Given the description of an element on the screen output the (x, y) to click on. 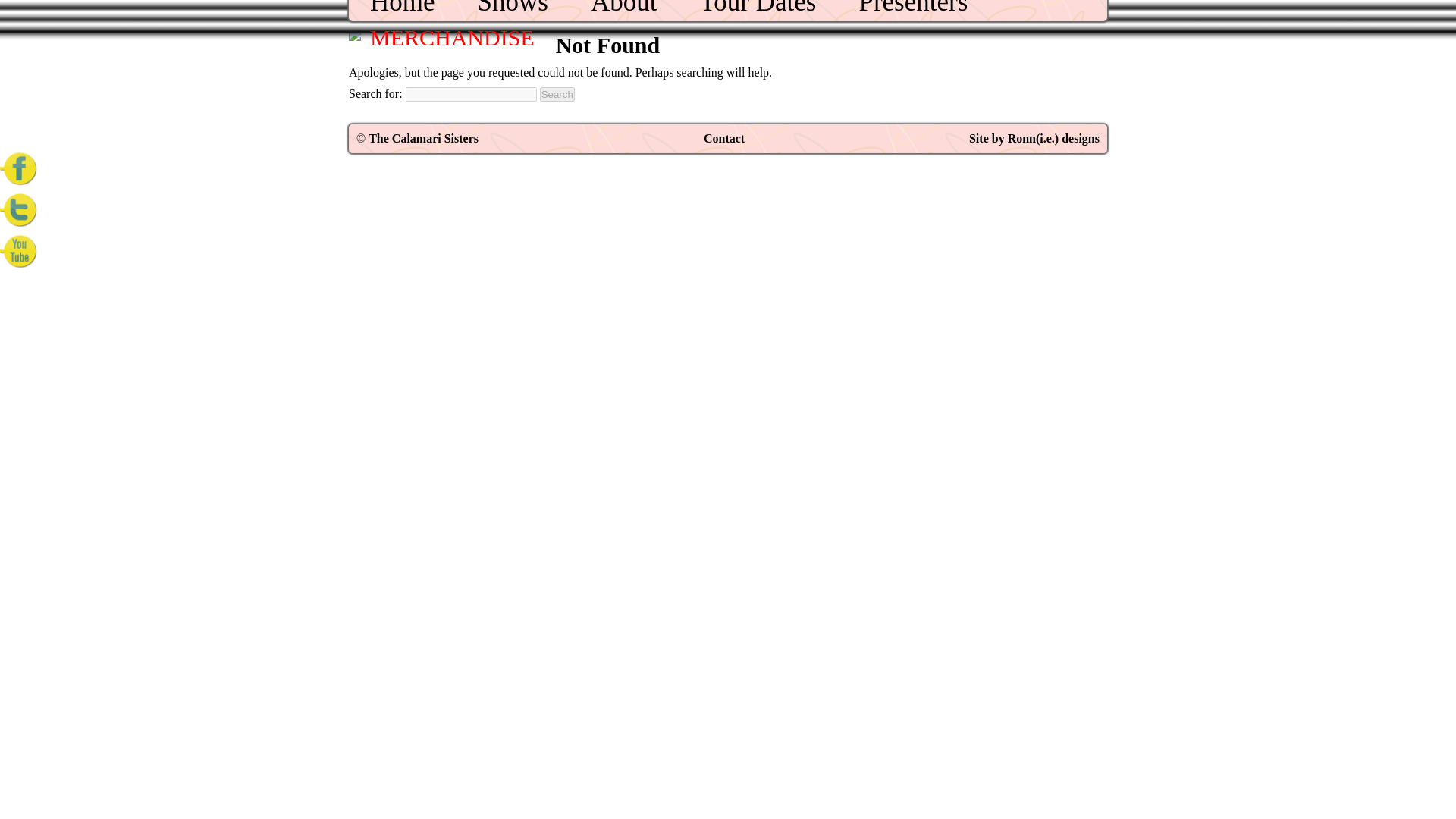
Search (557, 93)
Search (557, 93)
Shows (513, 8)
MERCHANDISE (451, 37)
The Calamari Sisters (423, 137)
The Calamari Sisters (423, 137)
About (624, 8)
Tour Dates (756, 8)
Home (402, 8)
Contact (723, 137)
Presenters (913, 8)
